Given the description of an element on the screen output the (x, y) to click on. 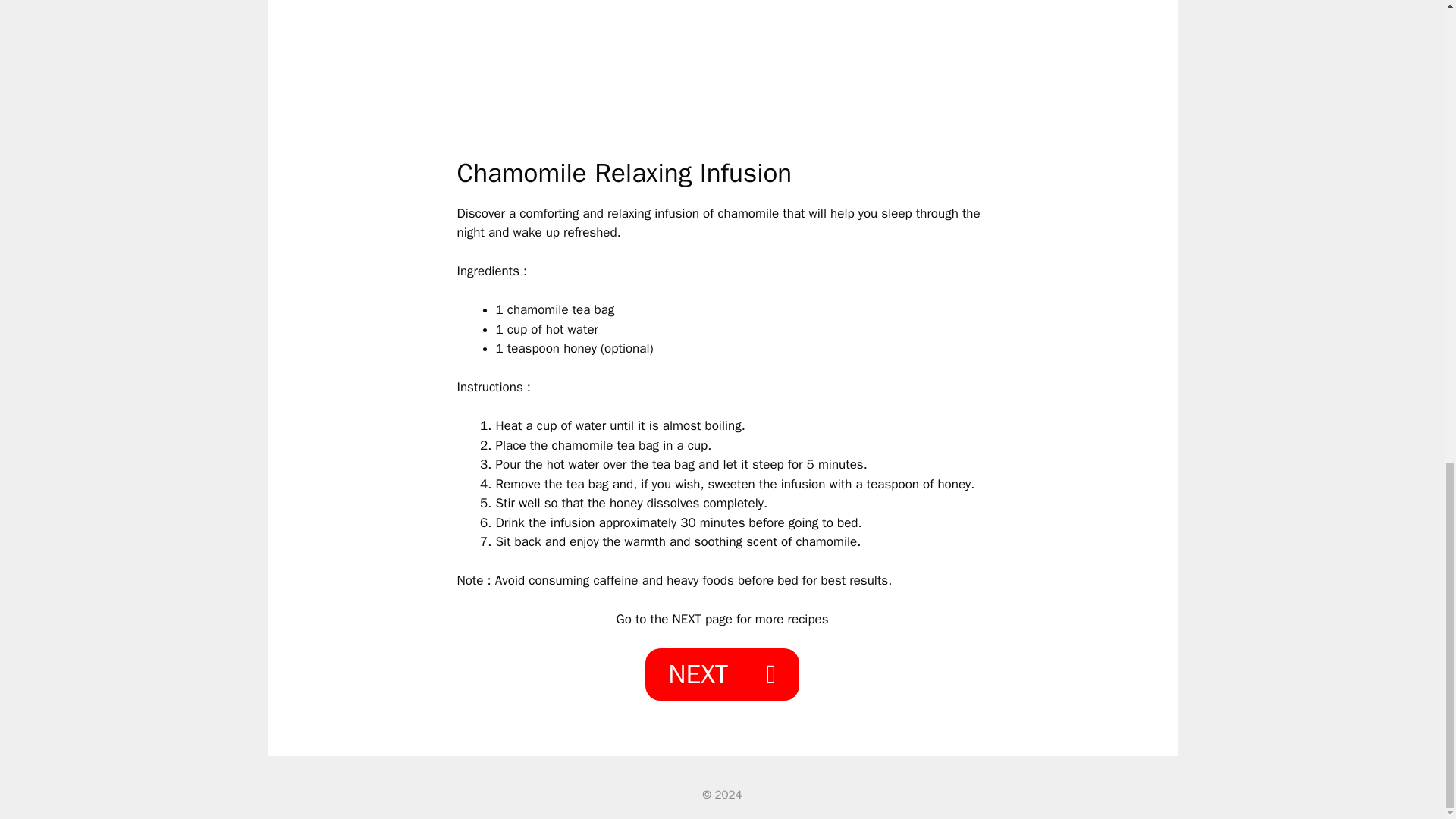
NEXT (721, 674)
Advertisement (722, 75)
